Given the description of an element on the screen output the (x, y) to click on. 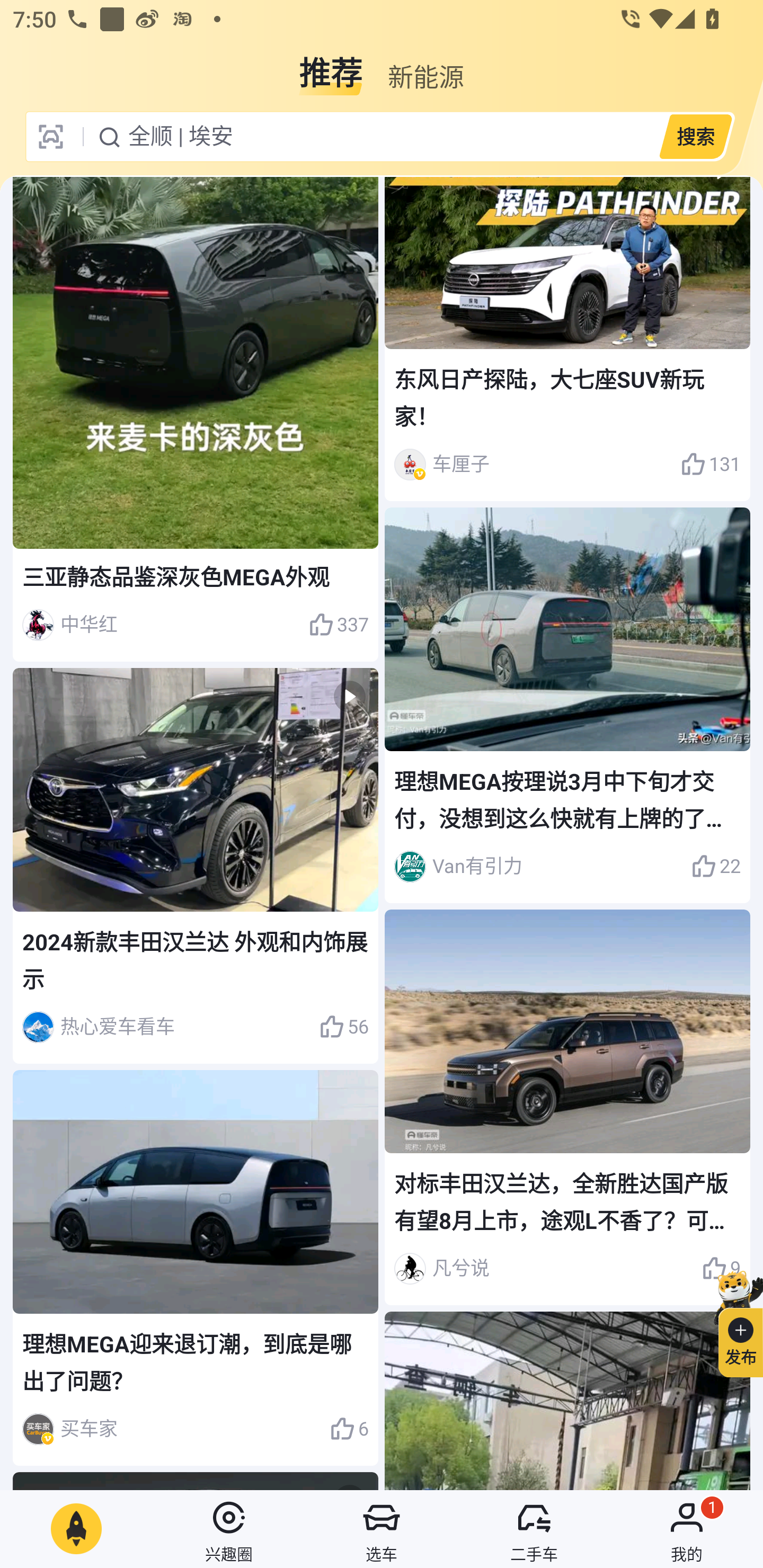
推荐 (330, 65)
新能源 (425, 65)
搜索 (695, 136)
三亚静态品鉴深灰色MEGA外观 中华红 337 (195, 419)
 东风日产探陆，大七座SUV新玩家！ 车厘子 131 (567, 339)
131 (710, 463)
337 (338, 624)
 2024新款丰田汉兰达 外观和内饰展示 热心爱车看车 56 (195, 865)
22 (715, 866)
56 (343, 1026)
理想MEGA迎来退订潮，到底是哪出了问题？ 买车家 6 (195, 1267)
发布 (732, 1321)
6 (348, 1428)
 兴趣圈 (228, 1528)
 选车 (381, 1528)
 二手车 (533, 1528)
 我的 (686, 1528)
